Given the description of an element on the screen output the (x, y) to click on. 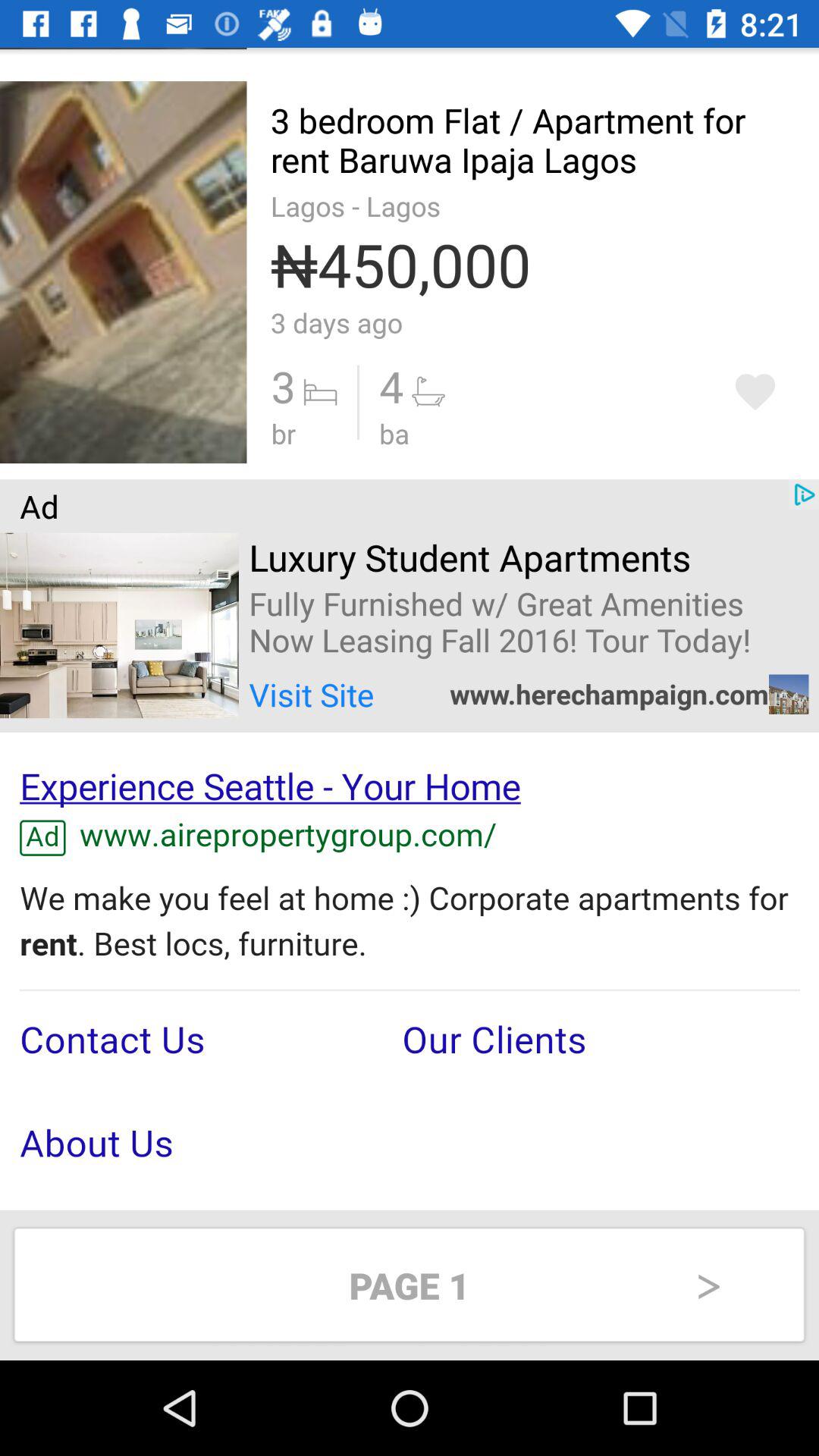
select the text visit site (311, 694)
select the option which is beside 3 (412, 401)
select the right arrow at bottom right of page (708, 1285)
select the option which indicates the bed symbol (314, 401)
